Given the description of an element on the screen output the (x, y) to click on. 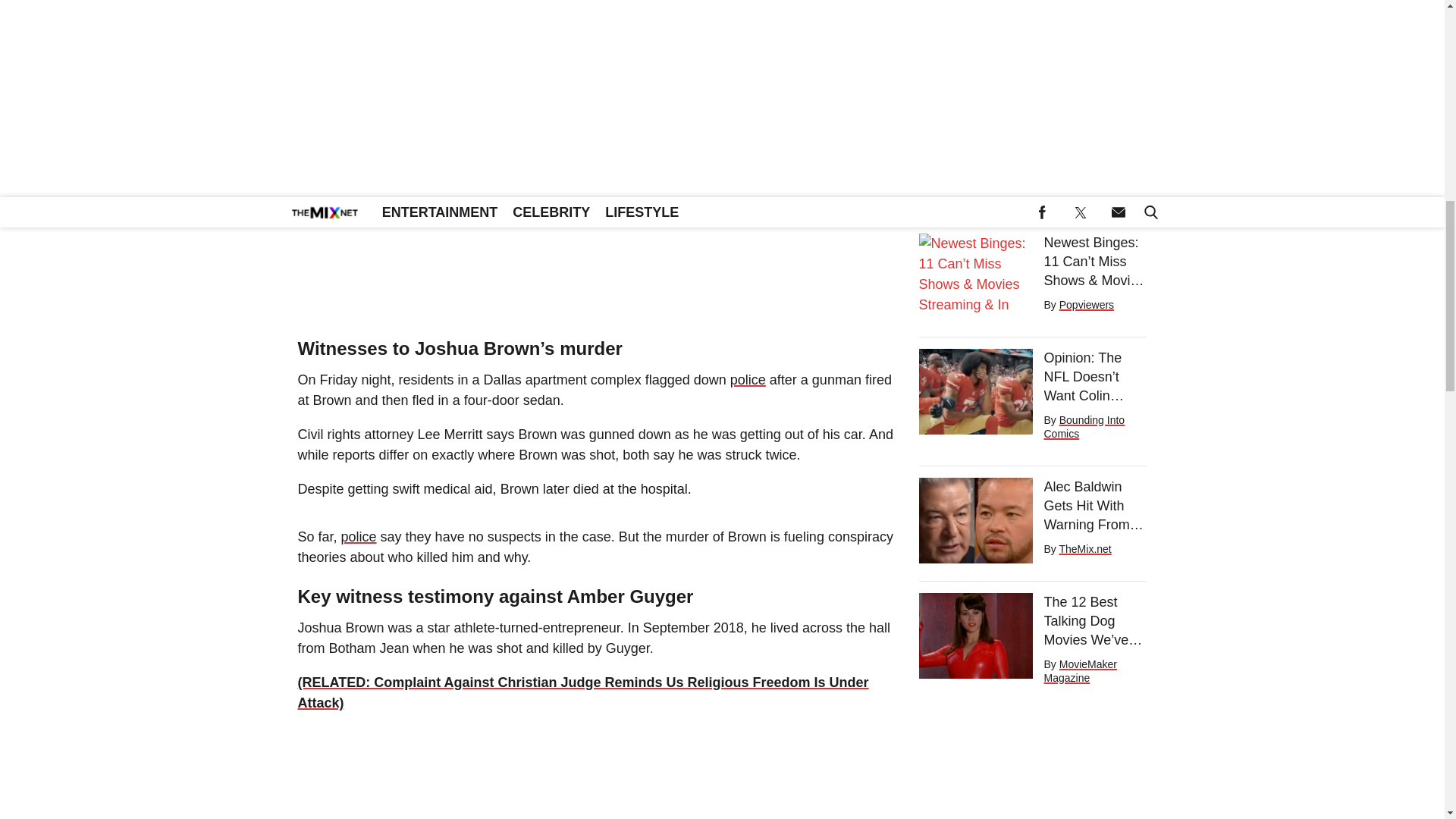
police (747, 379)
TheGrio (1077, 80)
police (358, 536)
